Given the description of an element on the screen output the (x, y) to click on. 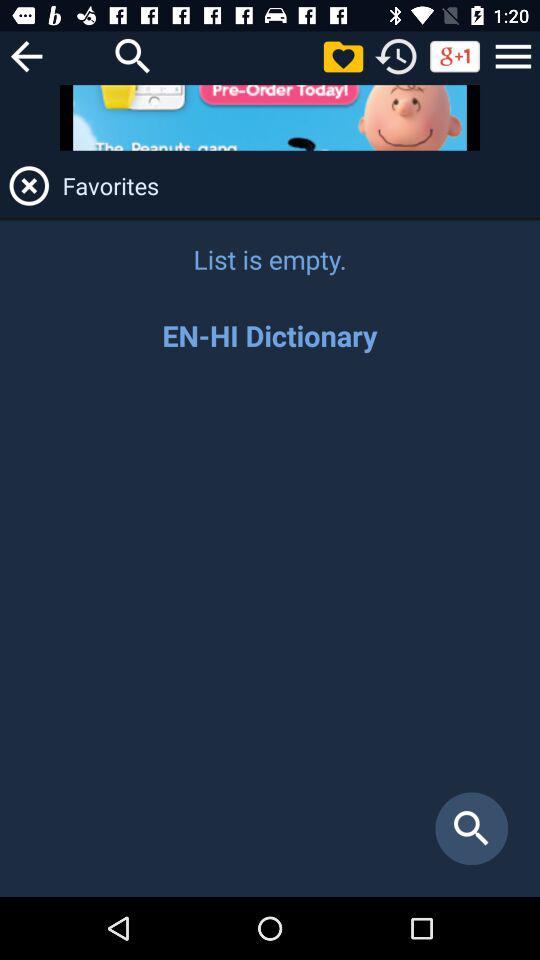
view favorites (343, 56)
